Given the description of an element on the screen output the (x, y) to click on. 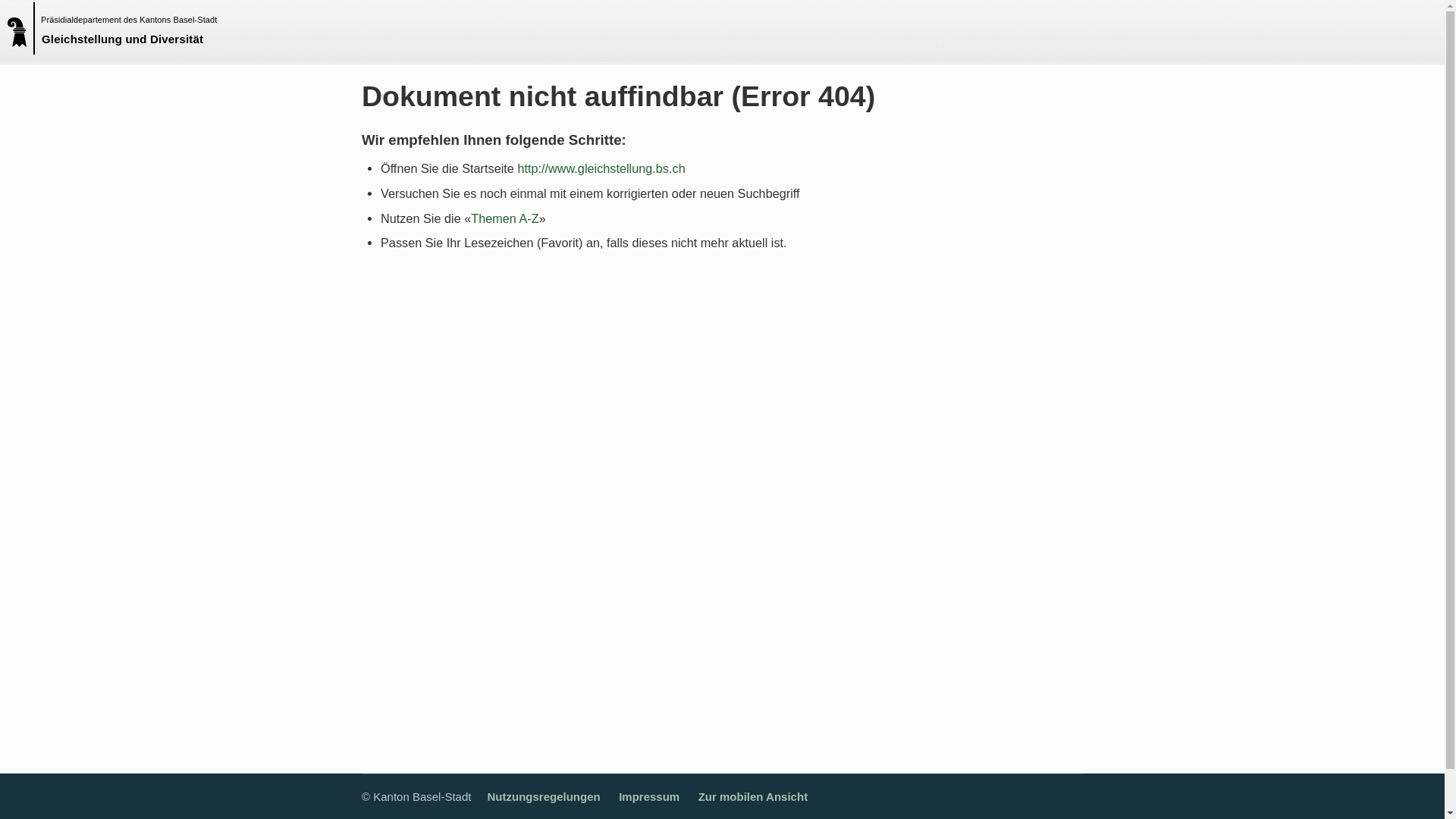
Themen A-Z Element type: text (504, 217)
http://www.gleichstellung.bs.ch Element type: text (600, 168)
Zur mobilen Ansicht Element type: text (752, 796)
Nutzungsregelungen Element type: text (542, 796)
Impressum Element type: text (648, 796)
